Given the description of an element on the screen output the (x, y) to click on. 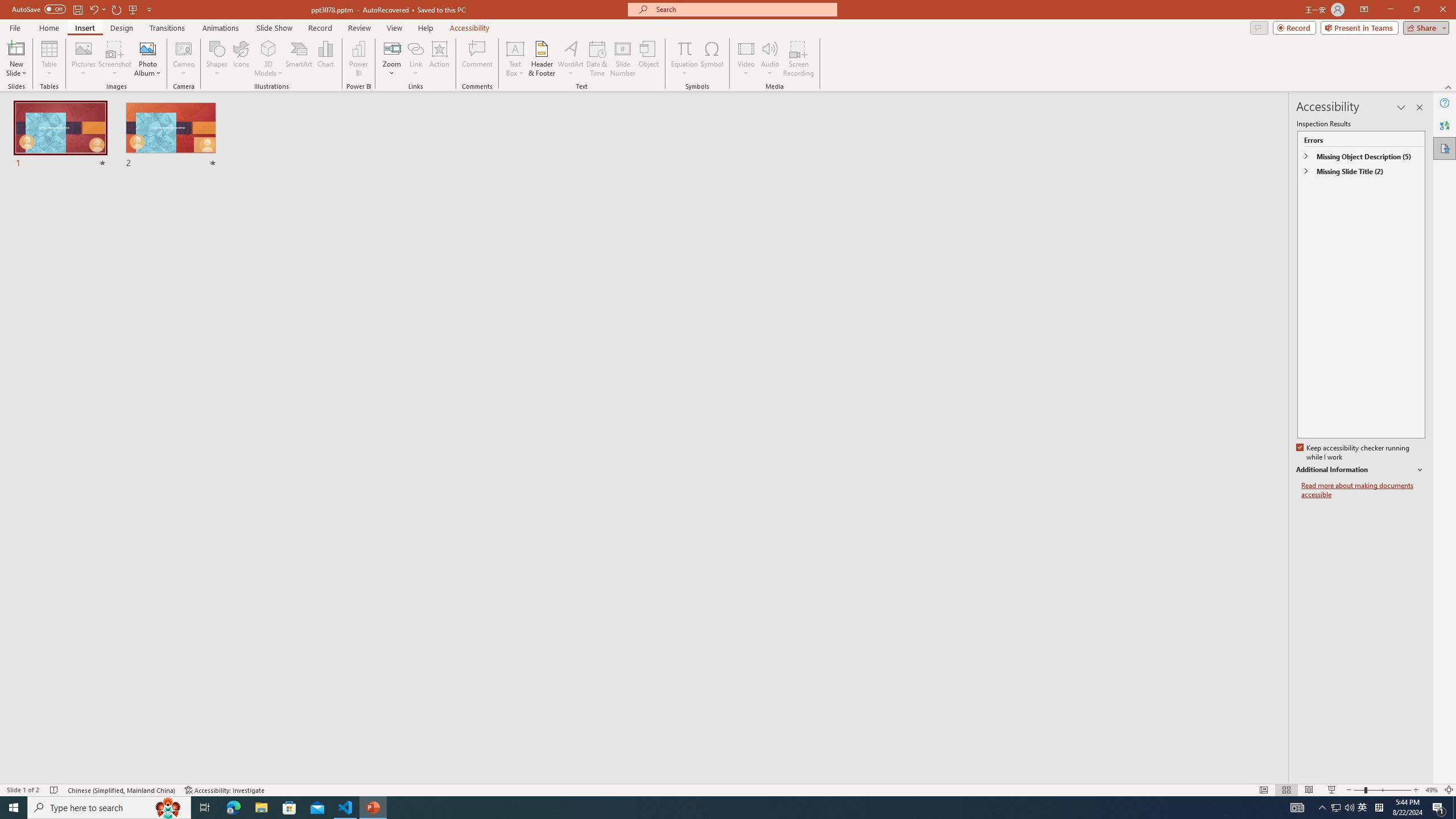
Draw Horizontal Text Box (515, 48)
Icons (240, 58)
Power BI (358, 58)
Comment (476, 58)
Equation (683, 48)
Video (745, 58)
Additional Information (1360, 469)
New Photo Album... (147, 48)
